Given the description of an element on the screen output the (x, y) to click on. 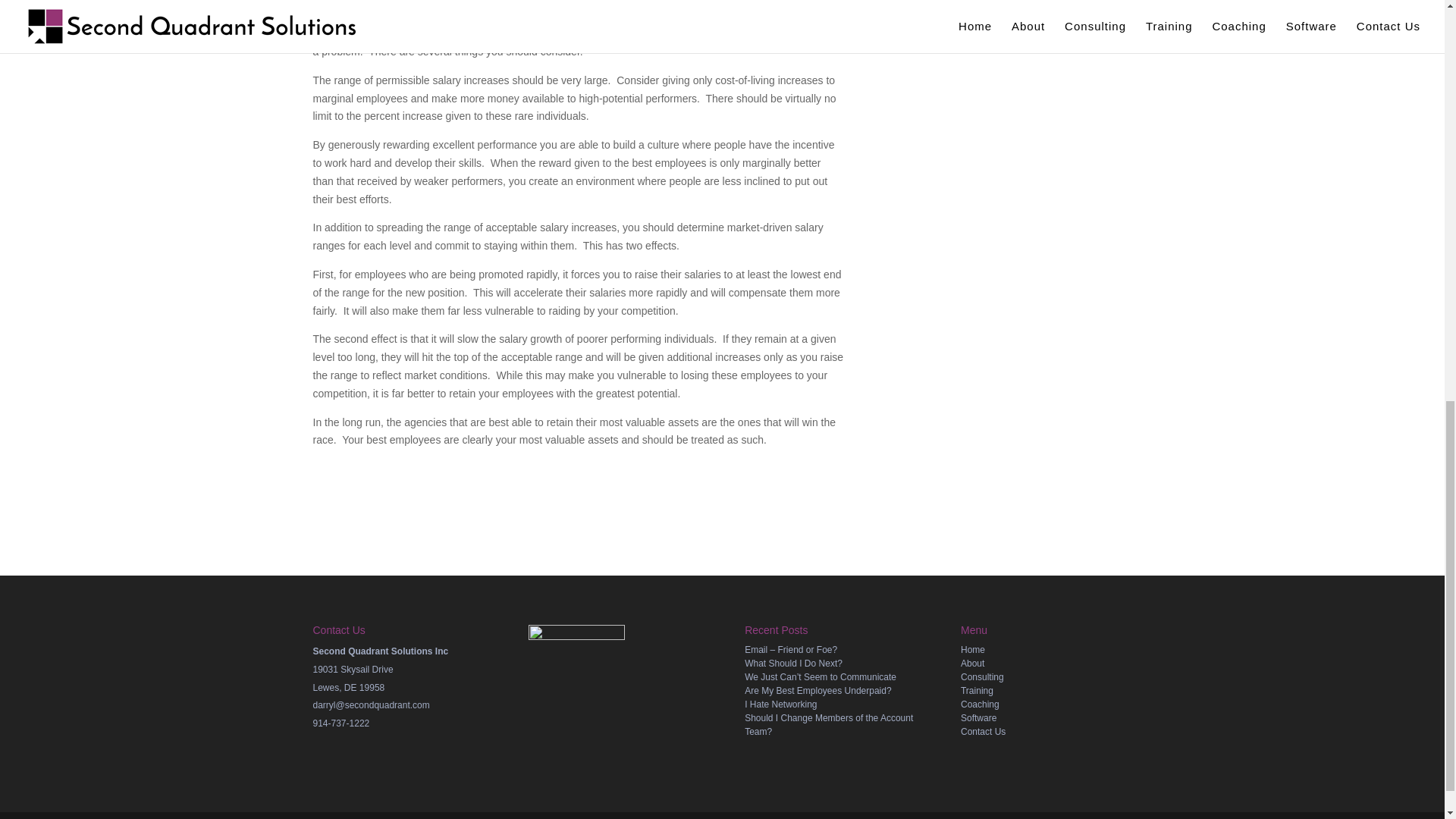
About (972, 663)
Should I Change Members of the Account Team? (828, 724)
What Should I Do Next? (793, 663)
Consulting (982, 676)
I Hate Networking (780, 704)
Home (972, 649)
Coaching (979, 704)
Software (977, 717)
Training (976, 690)
Are My Best Employees Underpaid? (817, 690)
